Given the description of an element on the screen output the (x, y) to click on. 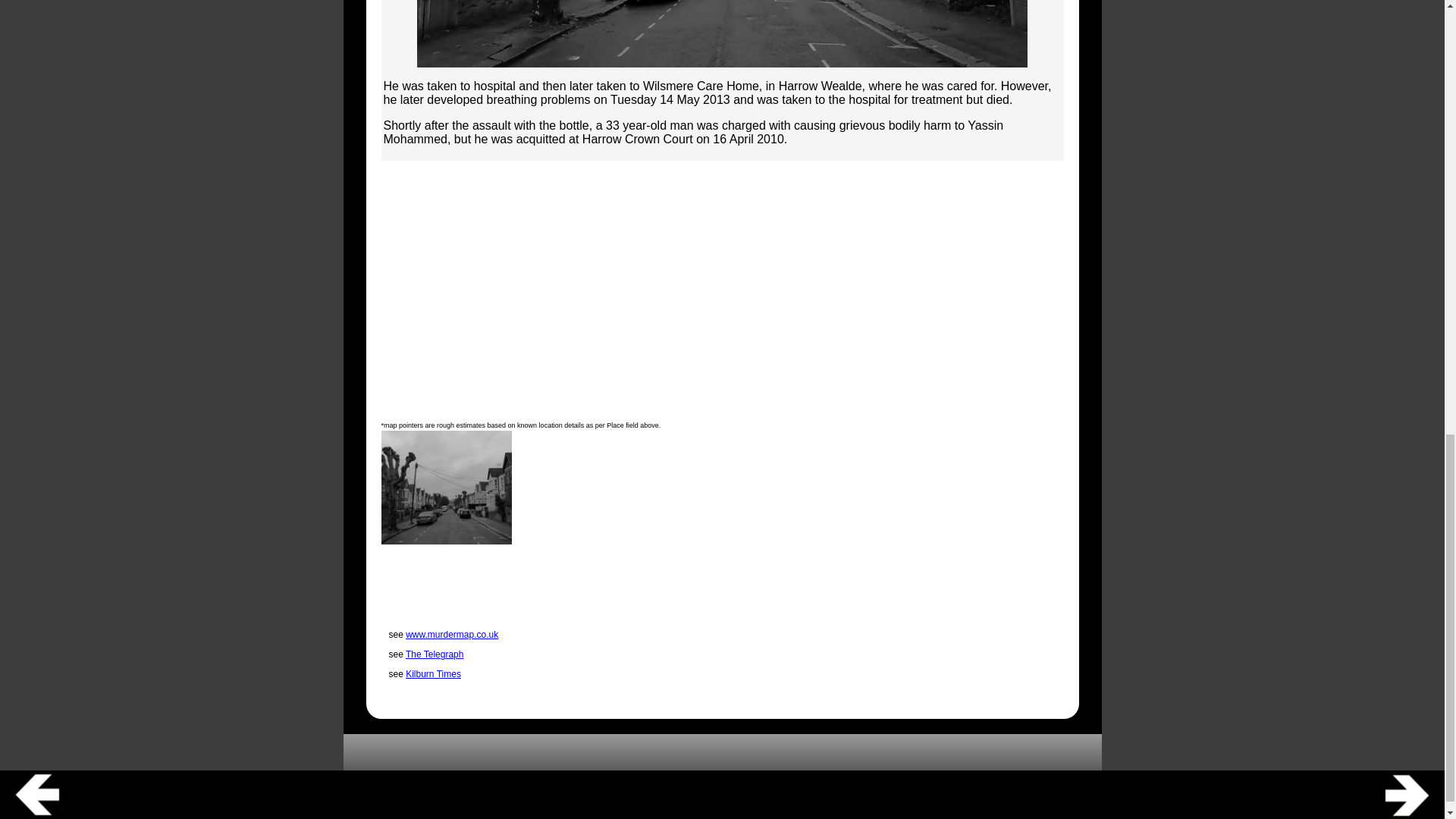
Kilburn Times (433, 674)
The Telegraph (435, 654)
www.murdermap.co.uk (451, 634)
